Given the description of an element on the screen output the (x, y) to click on. 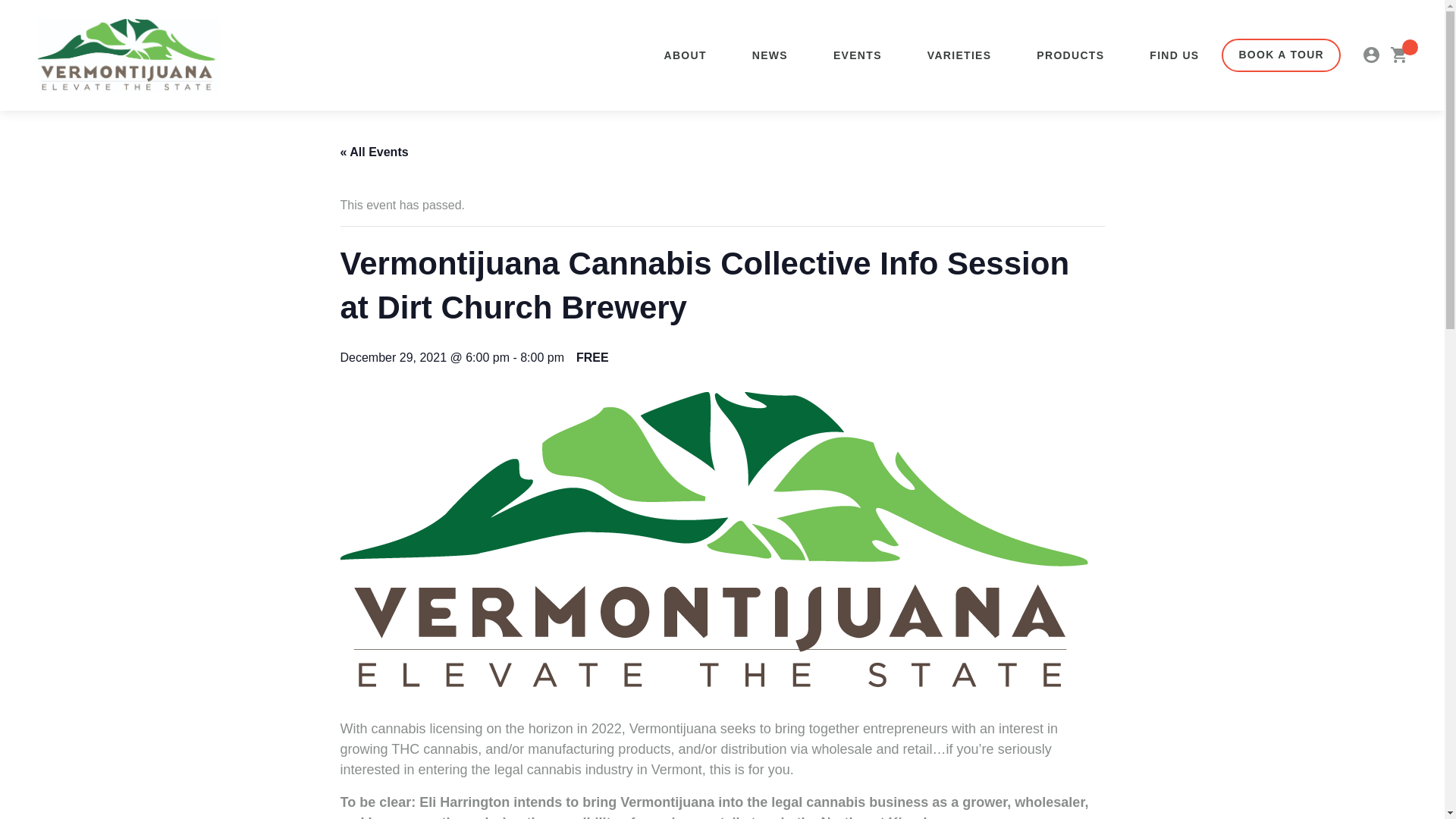
my account (1370, 54)
view cart (1398, 54)
home (128, 54)
NEWS (769, 54)
FIND US (1173, 54)
ABOUT (684, 54)
VARIETIES (959, 54)
BOOK A TOUR (1280, 55)
EVENTS (857, 54)
